Given the description of an element on the screen output the (x, y) to click on. 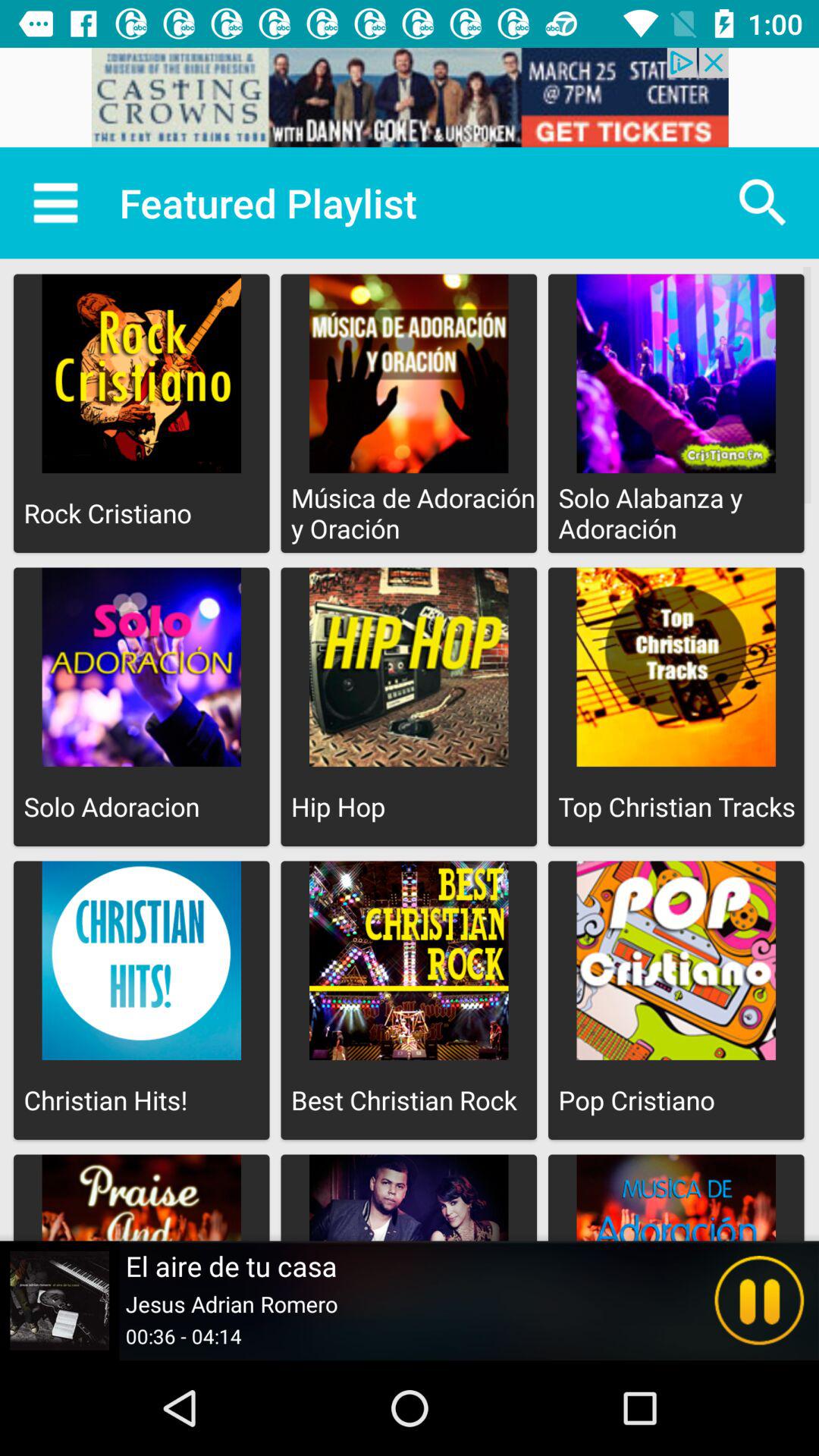
choose the option below the top christian tracks (675, 1000)
select the image above test christian rock (408, 960)
select the pause icon at the right corner of the screen (759, 1300)
select the first one under the featured playlist (141, 413)
